Given the description of an element on the screen output the (x, y) to click on. 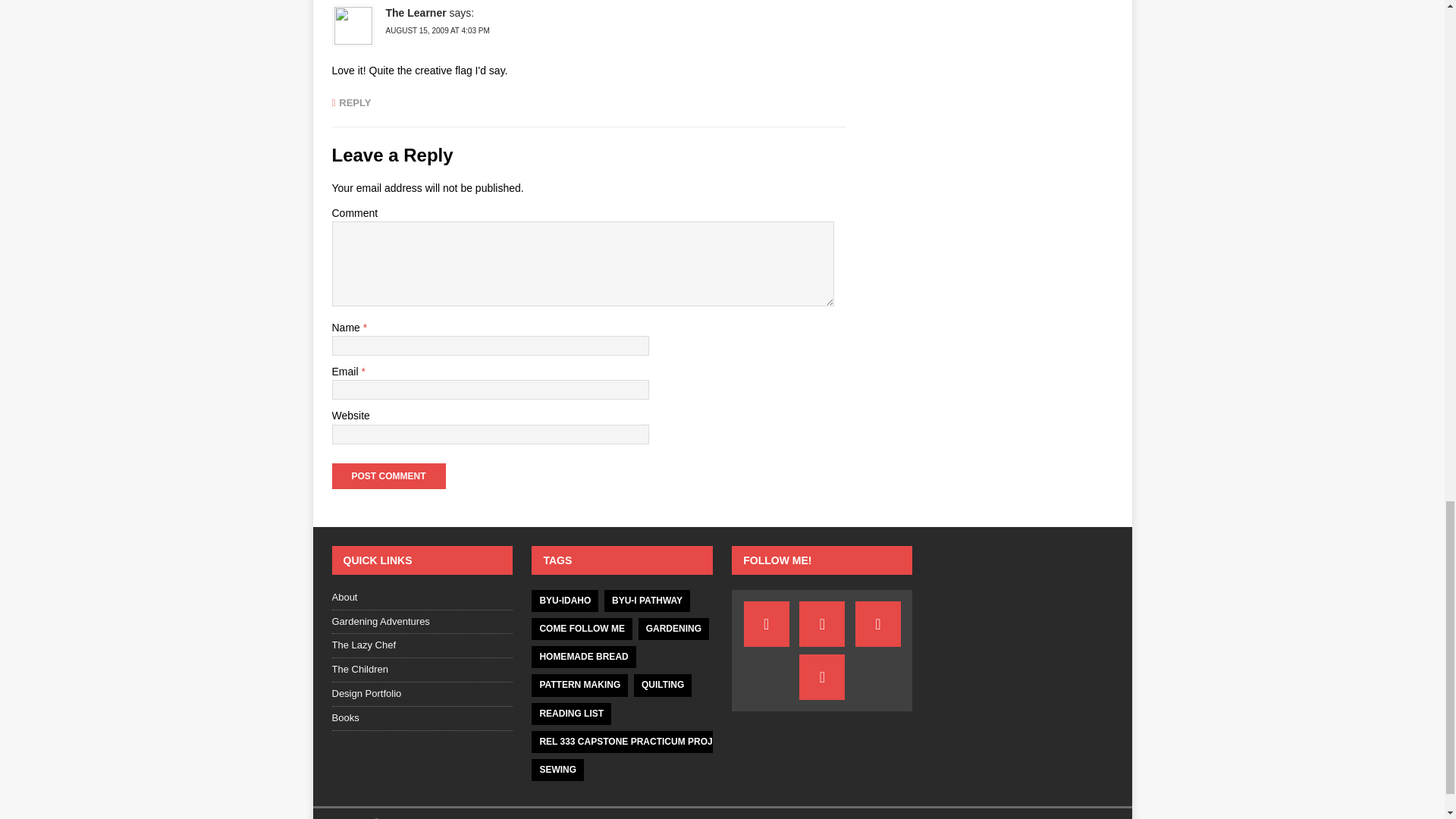
Post Comment (388, 475)
